Given the description of an element on the screen output the (x, y) to click on. 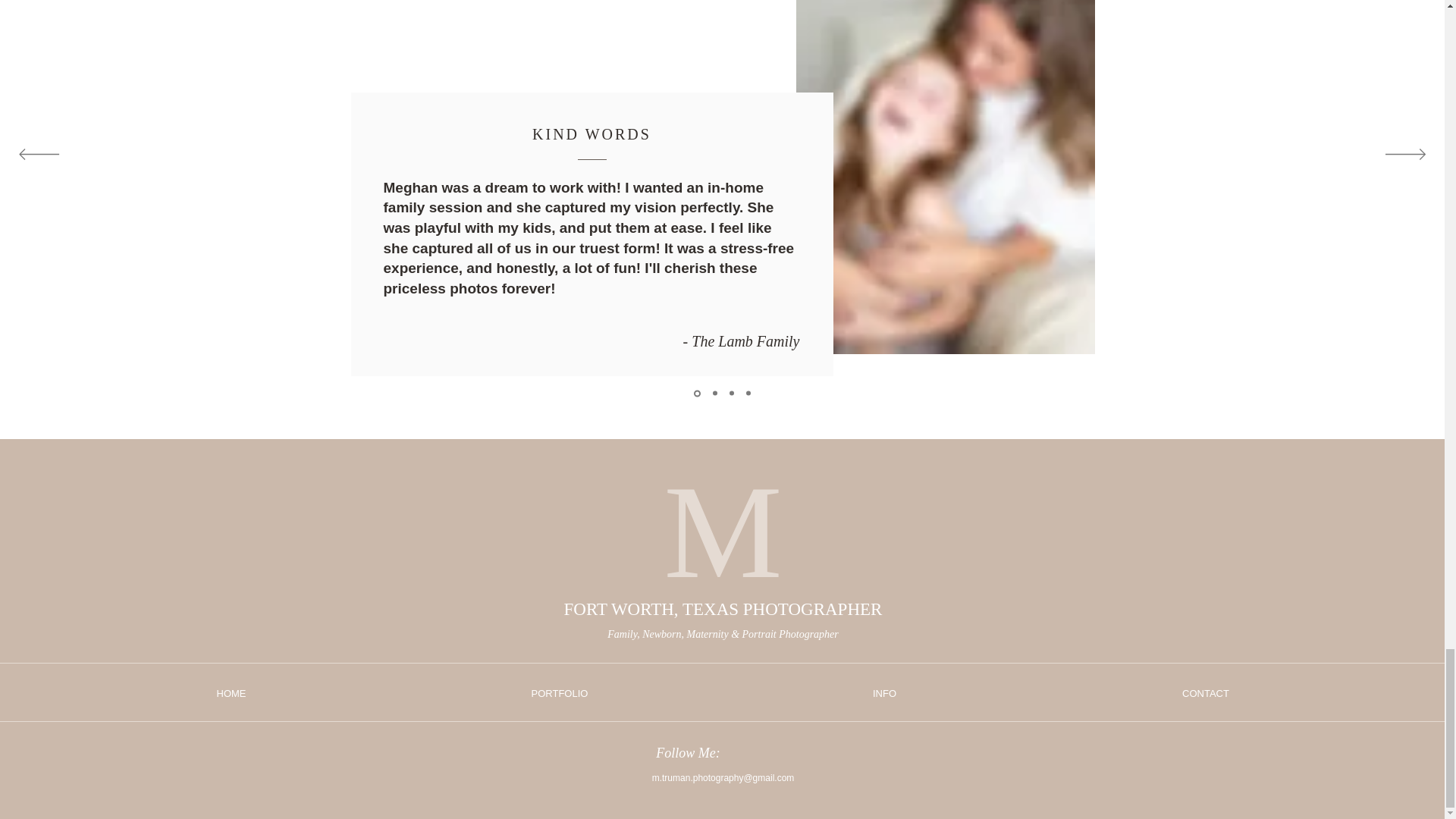
CONTACT (1205, 693)
PORTFOLIO (559, 693)
HOME (231, 693)
INFO (884, 693)
